Given the description of an element on the screen output the (x, y) to click on. 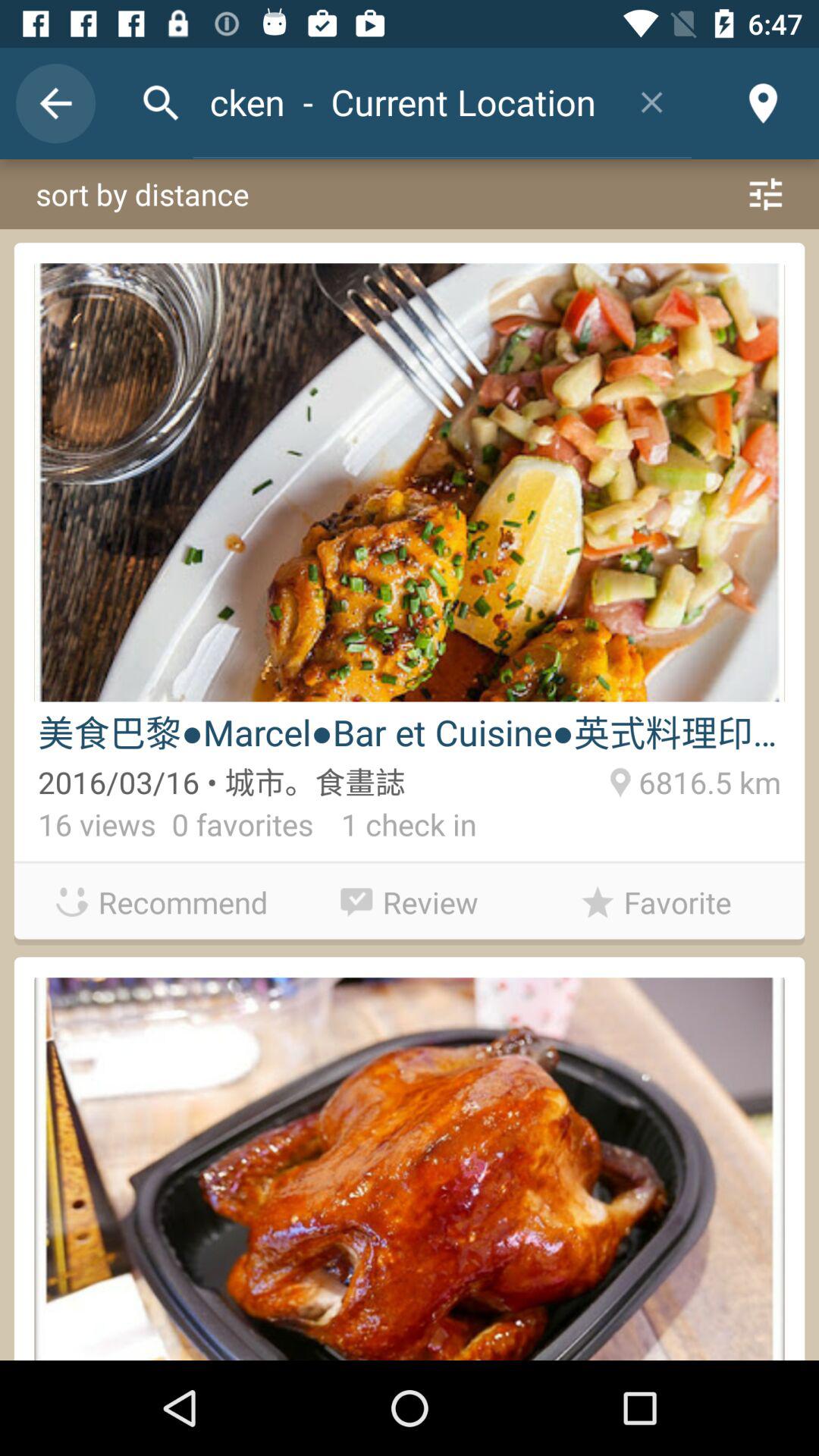
select a second image which is below recommend (409, 1167)
